Given the description of an element on the screen output the (x, y) to click on. 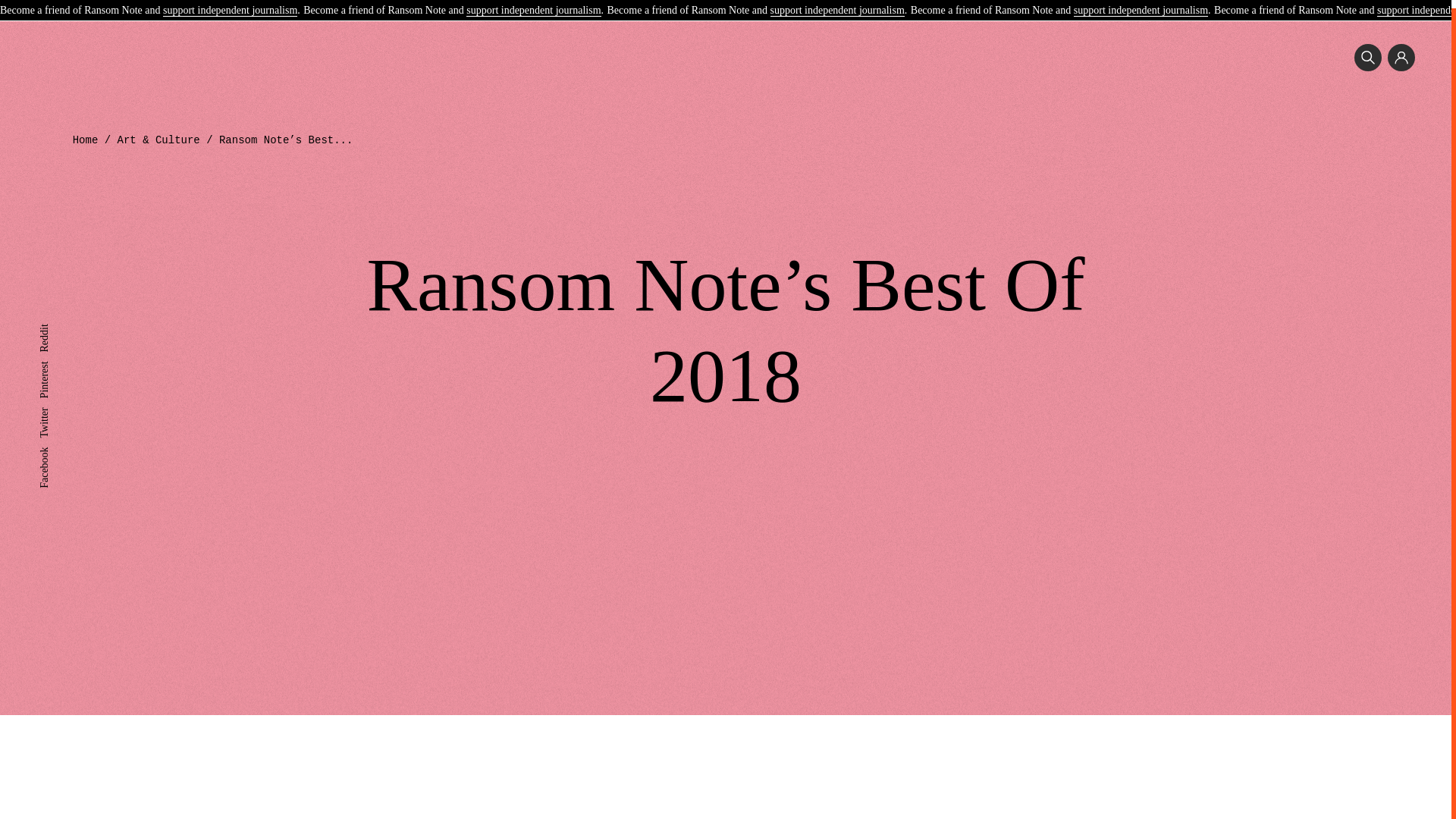
support independent journalism (1141, 4)
support independent journalism (837, 4)
support independent journalism (532, 4)
Reddit (52, 321)
support independent journalism (230, 4)
Twitter (53, 404)
Home (85, 140)
Pinterest (57, 358)
Facebook (59, 444)
